Given the description of an element on the screen output the (x, y) to click on. 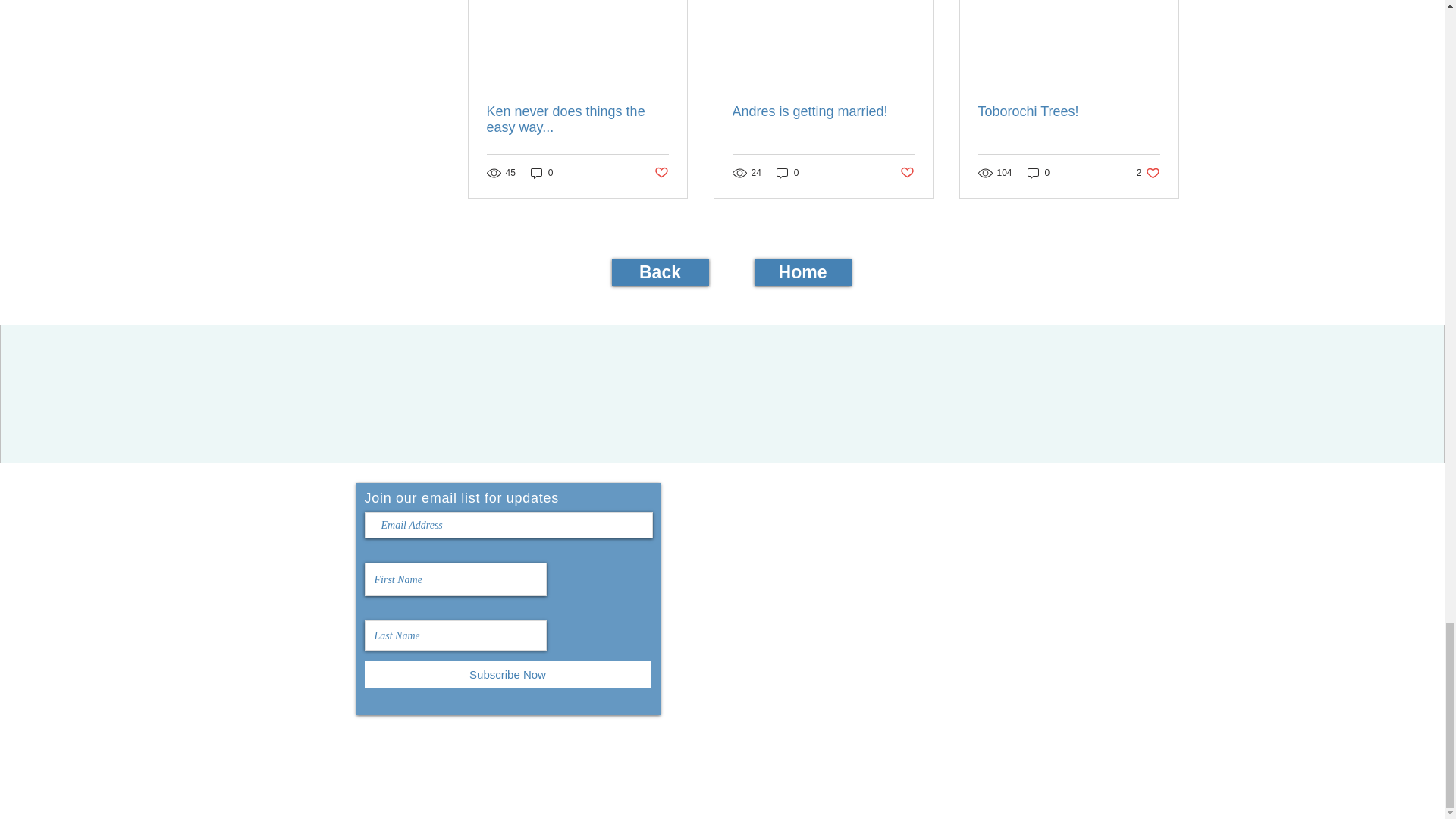
Post not marked as liked (660, 172)
0 (787, 173)
0 (541, 173)
Andres is getting married! (823, 111)
Ken never does things the easy way... (577, 119)
Post not marked as liked (906, 172)
